Given the description of an element on the screen output the (x, y) to click on. 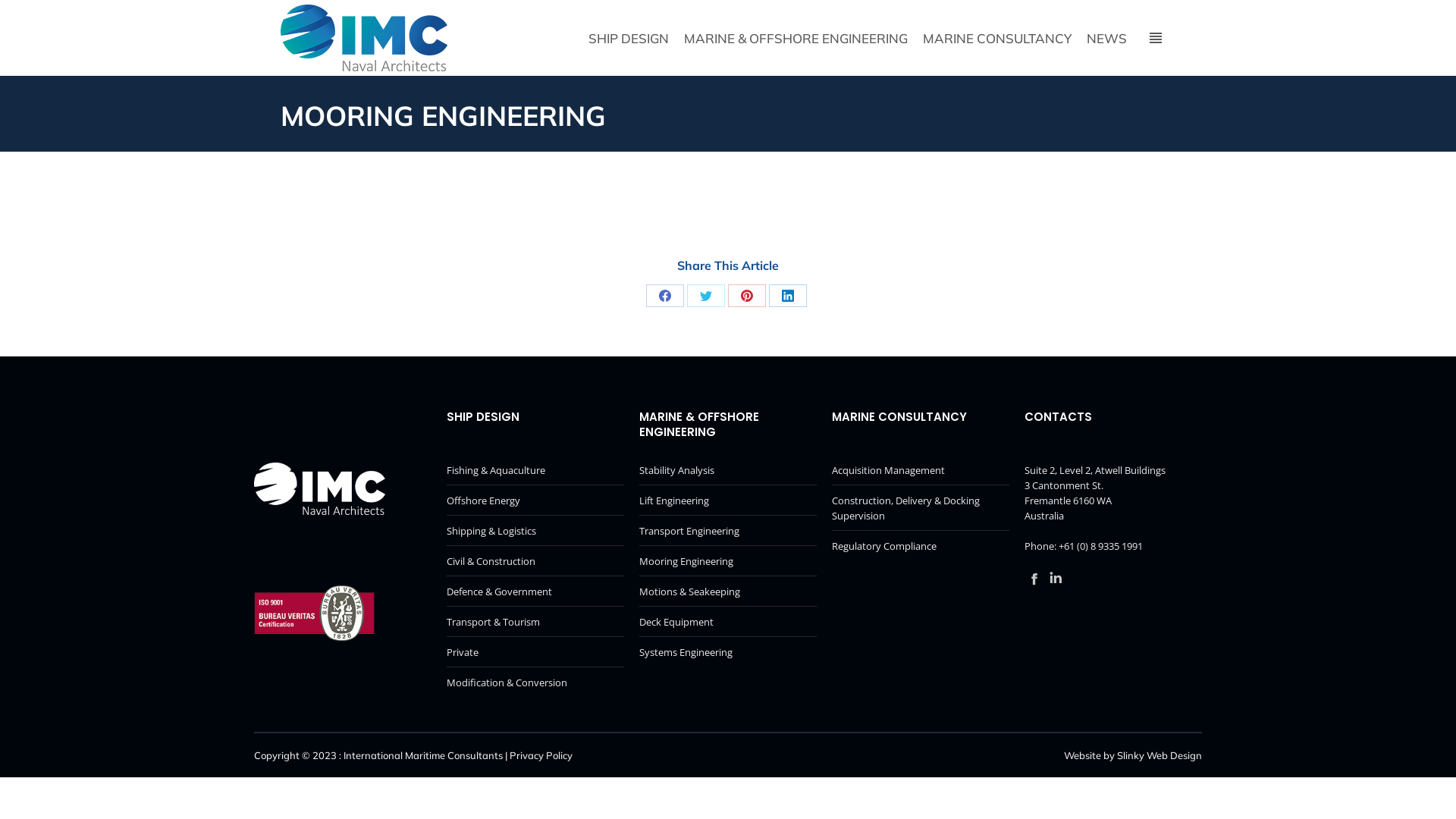
Lift Engineering Element type: text (674, 500)
Linkedin Element type: text (1055, 578)
Deck Equipment Element type: text (676, 621)
Regulatory Compliance Element type: text (883, 545)
Motions & Seakeeping Element type: text (689, 591)
Defence & Government Element type: text (499, 591)
Share on Twitter Element type: text (705, 295)
NEWS Element type: text (1105, 37)
SHIP DESIGN Element type: text (628, 37)
Transport Engineering Element type: text (689, 530)
Construction, Delivery & Docking Supervision Element type: text (920, 507)
Offshore Energy Element type: text (483, 500)
Shipping & Logistics Element type: text (491, 530)
Share on Pinterest Element type: text (746, 295)
Acquisition Management Element type: text (887, 469)
Share on LinkedIn Element type: text (787, 295)
Privacy Policy Element type: text (540, 755)
Civil & Construction Element type: text (490, 560)
Slinky Web Design Element type: text (1159, 755)
Stability Analysis Element type: text (676, 469)
Modification & Conversion Element type: text (506, 682)
International Maritime Consultants Element type: text (422, 755)
MARINE CONSULTANCY Element type: text (996, 37)
Transport & Tourism Element type: text (492, 621)
Mooring Engineering Element type: text (686, 560)
Private Element type: text (462, 651)
Share on Facebook Element type: text (665, 295)
Fishing & Aquaculture Element type: text (495, 469)
MARINE & OFFSHORE ENGINEERING Element type: text (795, 37)
Facebook Element type: text (1034, 578)
Systems Engineering Element type: text (685, 651)
